Given the description of an element on the screen output the (x, y) to click on. 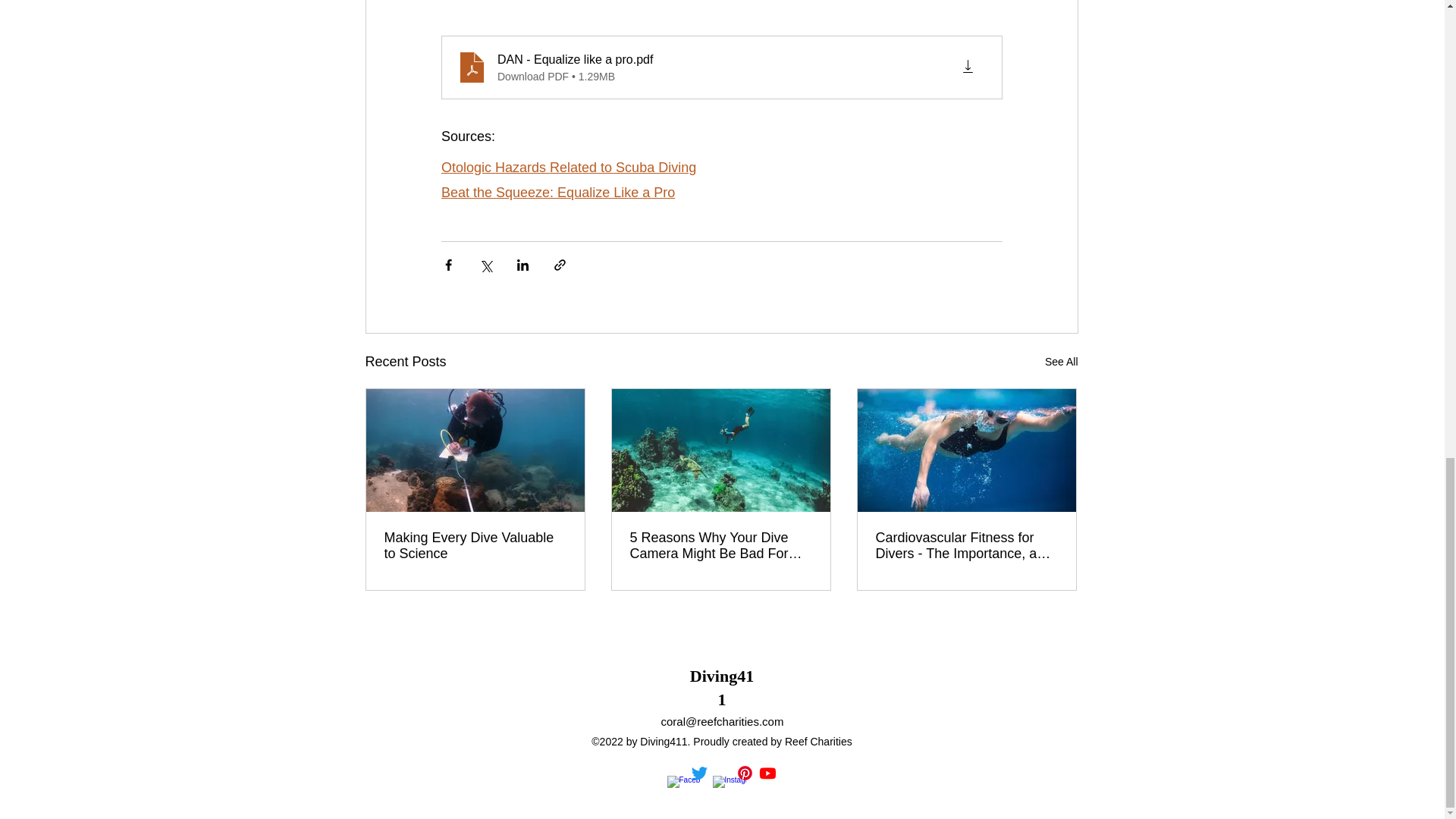
5 Reasons Why Your Dive Camera Might Be Bad For The Reef (719, 545)
Beat the Squeeze: Equalize Like a Pro (558, 192)
Otologic Hazards Related to Scuba Diving (568, 167)
Making Every Dive Valuable to Science (475, 545)
See All (1061, 362)
